Given the description of an element on the screen output the (x, y) to click on. 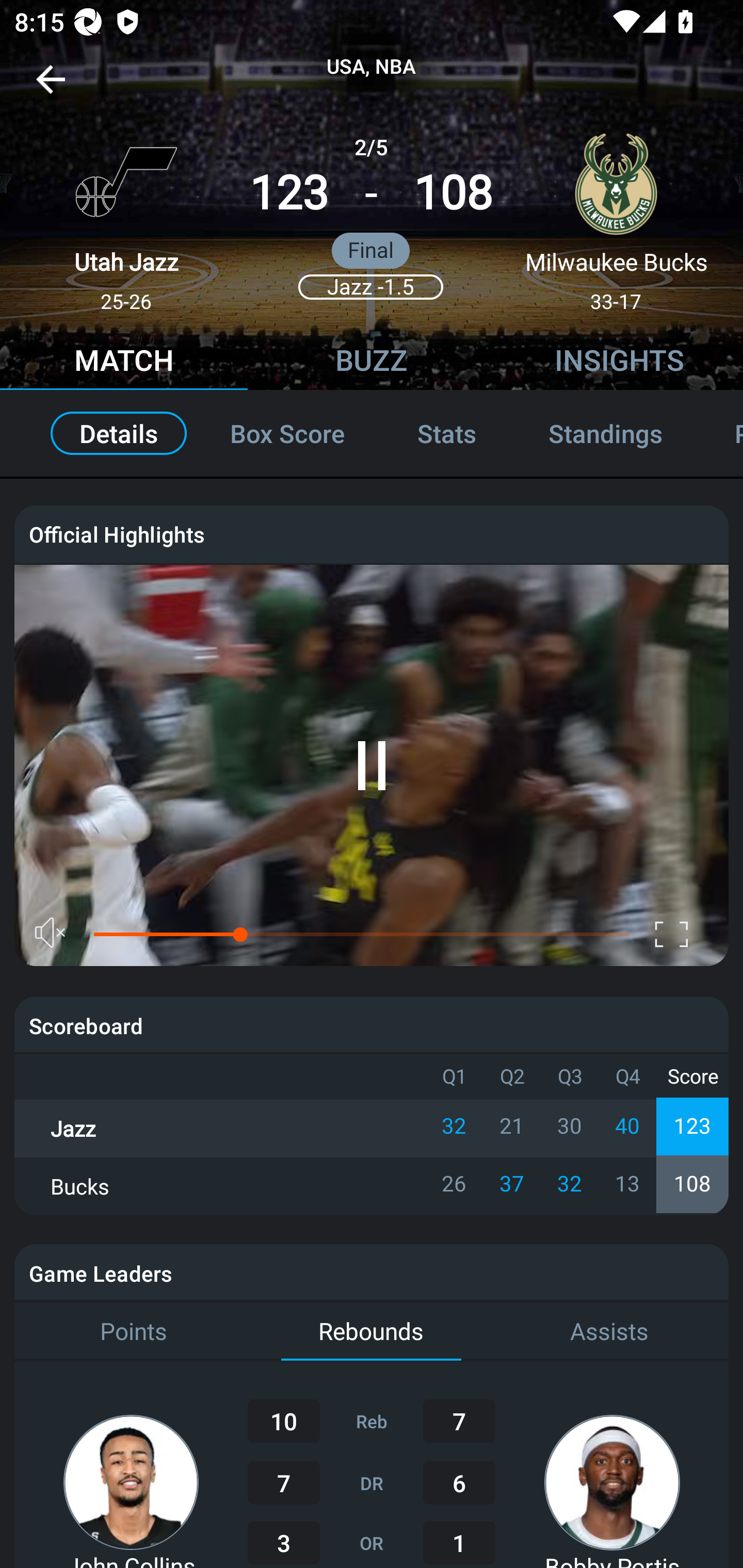
Navigate up (50, 86)
USA, NBA (371, 66)
Utah Jazz 25-26 (126, 214)
Milwaukee Bucks 33-17 (616, 214)
123 (288, 192)
108 (453, 192)
MATCH (123, 362)
BUZZ (371, 362)
INSIGHTS (619, 362)
Box Score (287, 433)
Stats (446, 433)
Standings (605, 433)
Official Highlights (371, 533)
Points (133, 1332)
Assists (609, 1332)
